Given the description of an element on the screen output the (x, y) to click on. 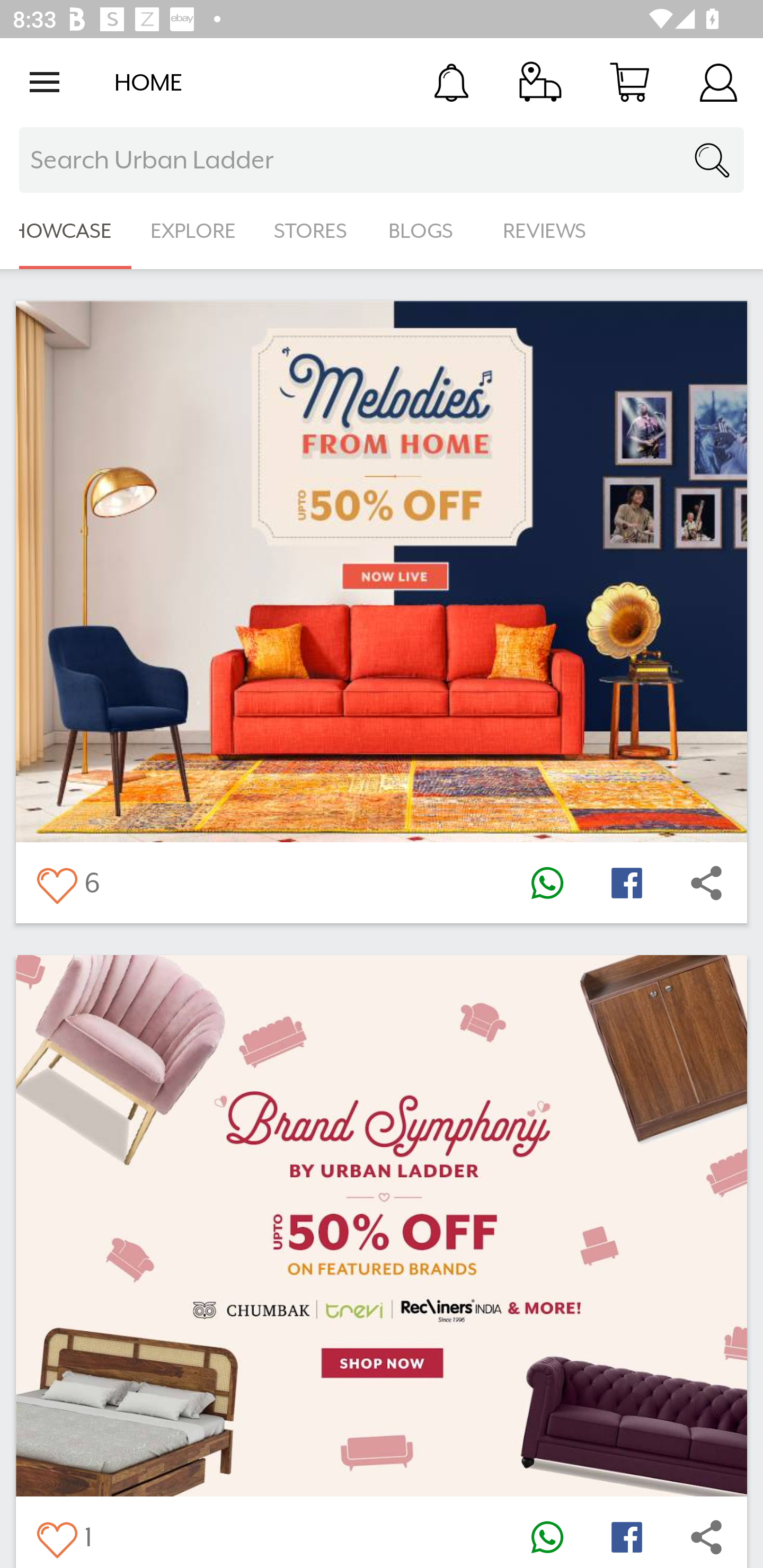
Open navigation drawer (44, 82)
Notification (450, 81)
Track Order (540, 81)
Cart (629, 81)
Account Details (718, 81)
Search Urban Ladder  (381, 159)
SHOWCASE (65, 230)
EXPLORE (192, 230)
STORES (311, 230)
BLOGS (426, 230)
REVIEWS (544, 230)
 (55, 882)
 (547, 882)
 (626, 882)
 (706, 882)
 (55, 1536)
 (547, 1536)
 (626, 1536)
 (706, 1536)
